Given the description of an element on the screen output the (x, y) to click on. 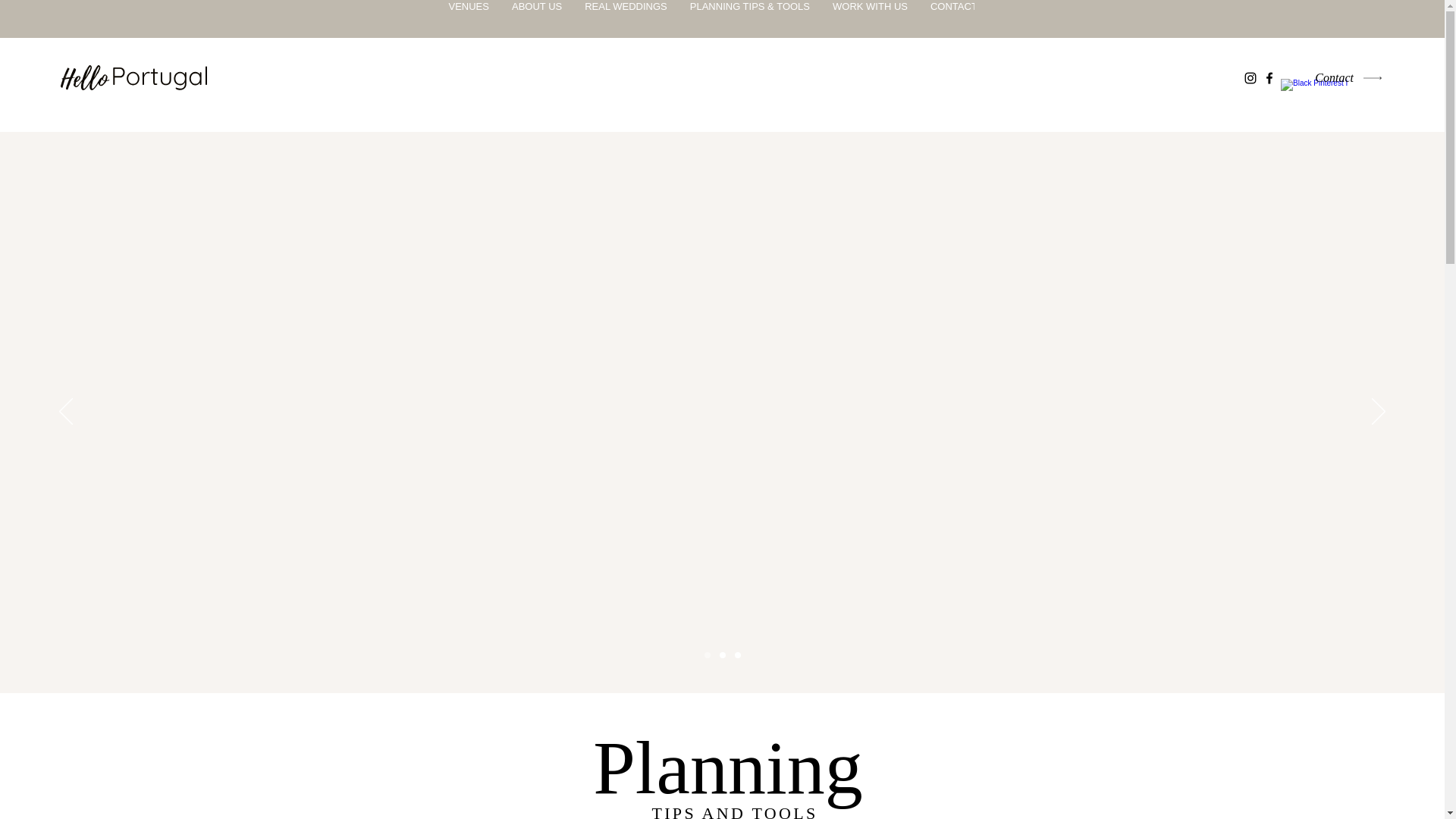
Contact (1342, 77)
CONTACT (953, 18)
VENUES (467, 18)
WORK WITH US (869, 18)
ABOUT US (536, 18)
REAL WEDDINGS (625, 18)
